Given the description of an element on the screen output the (x, y) to click on. 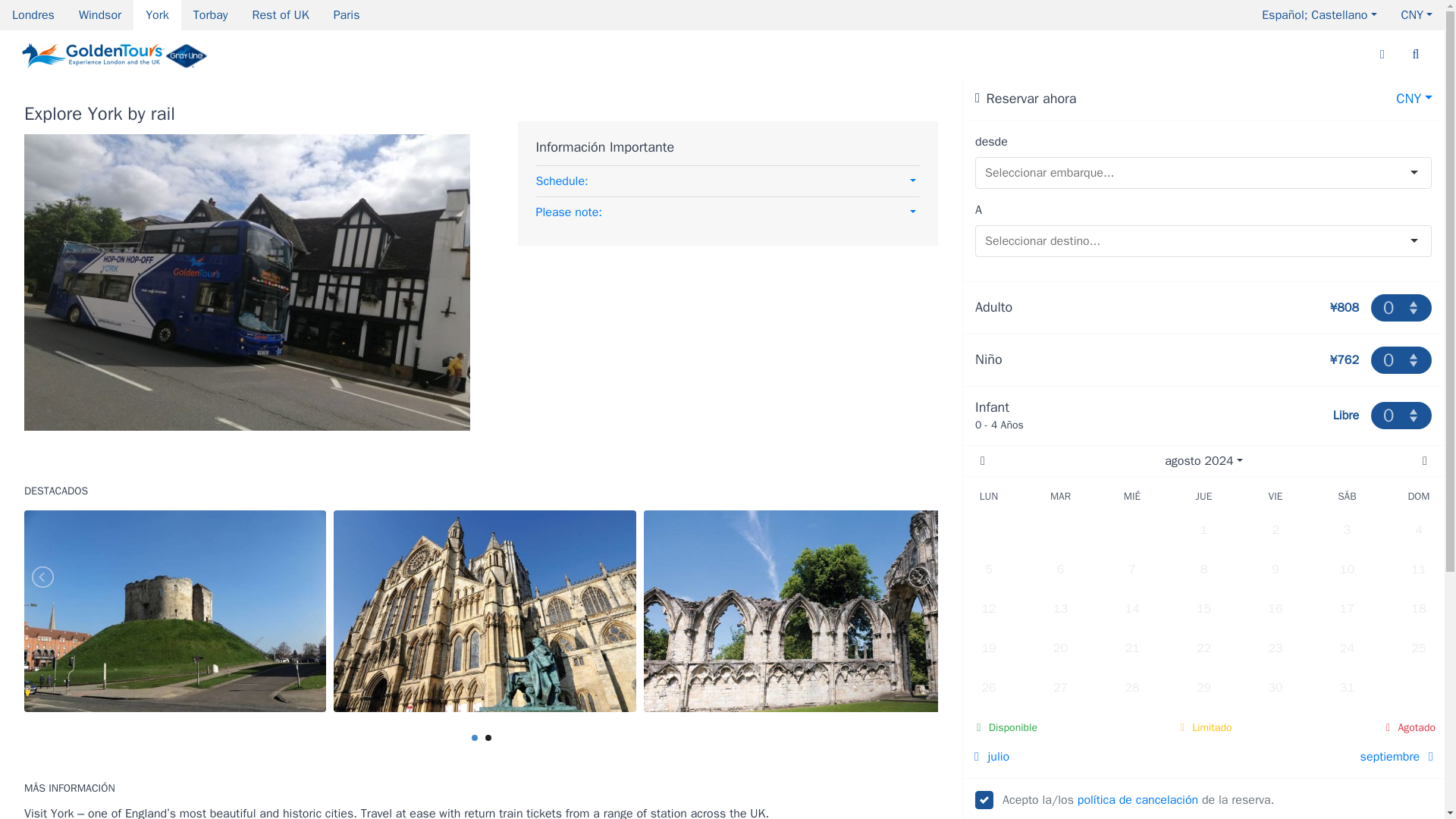
Londres (33, 15)
Windsor (99, 15)
York (156, 15)
